Given the description of an element on the screen output the (x, y) to click on. 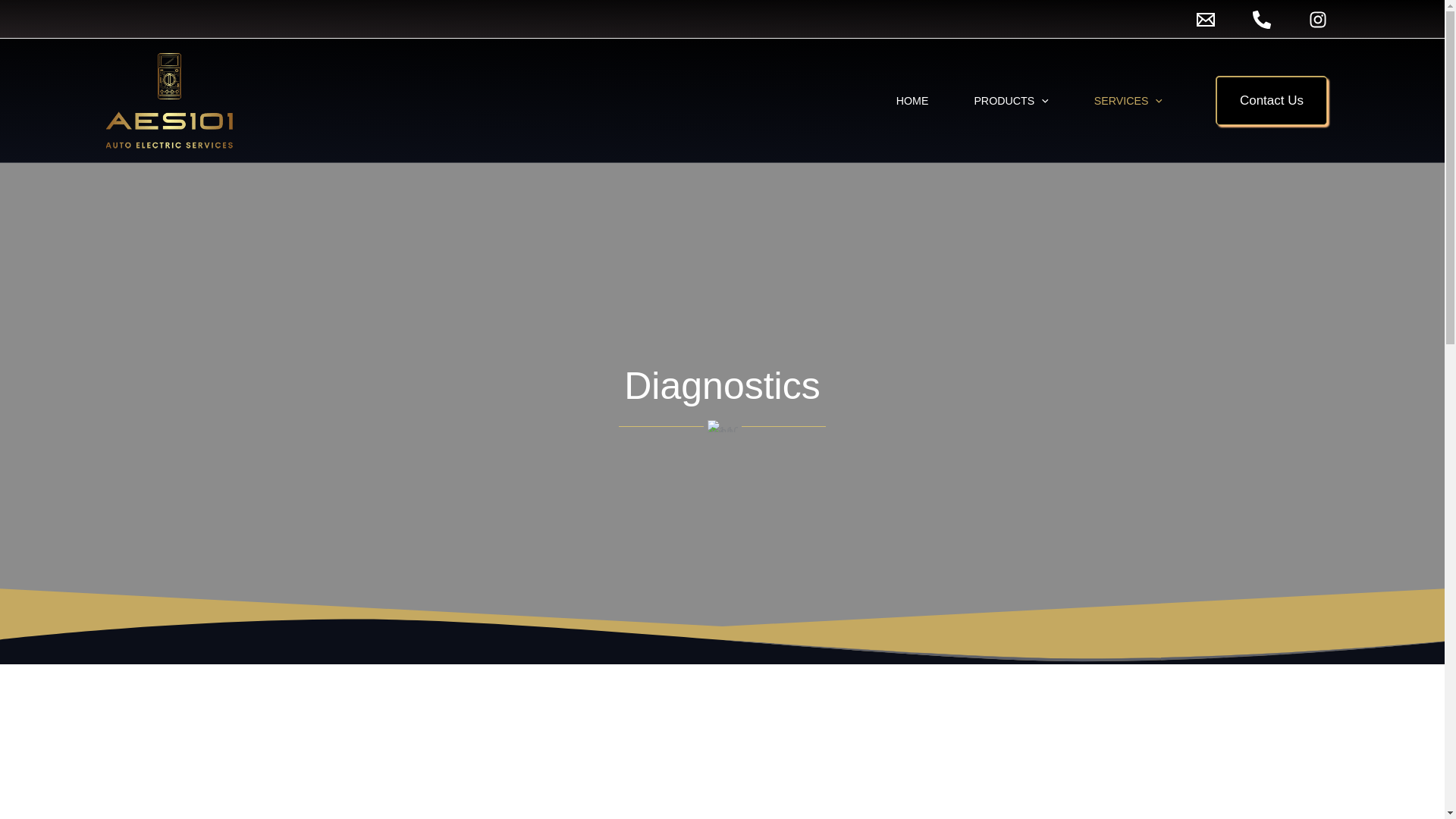
aes101 icon 1 (721, 426)
PRODUCTS (1010, 100)
Contact Us (1270, 100)
SERVICES (1128, 100)
HOME (912, 100)
